Given the description of an element on the screen output the (x, y) to click on. 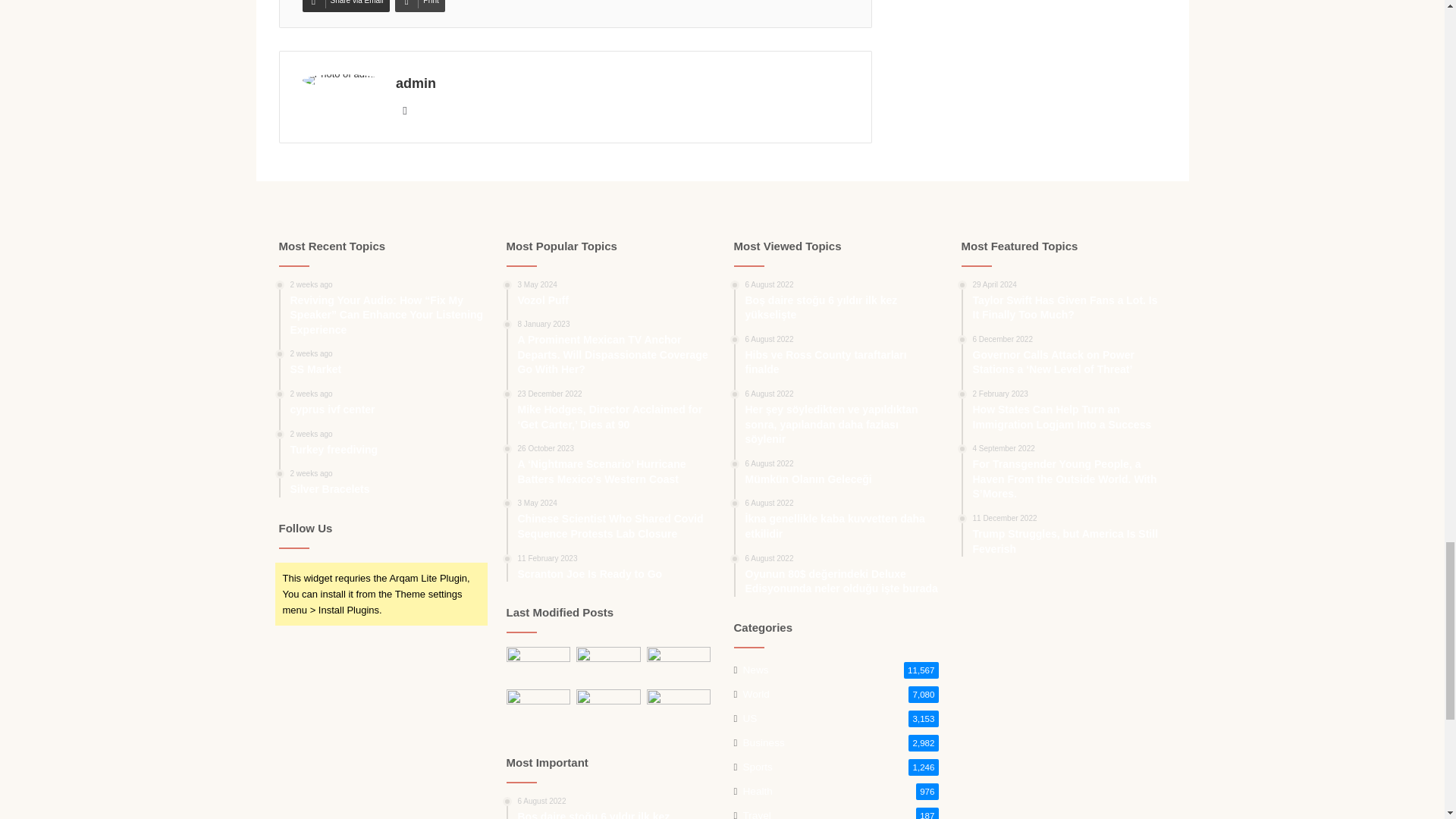
Website (404, 110)
admin (415, 83)
Print (419, 6)
Share via Email (344, 6)
